Given the description of an element on the screen output the (x, y) to click on. 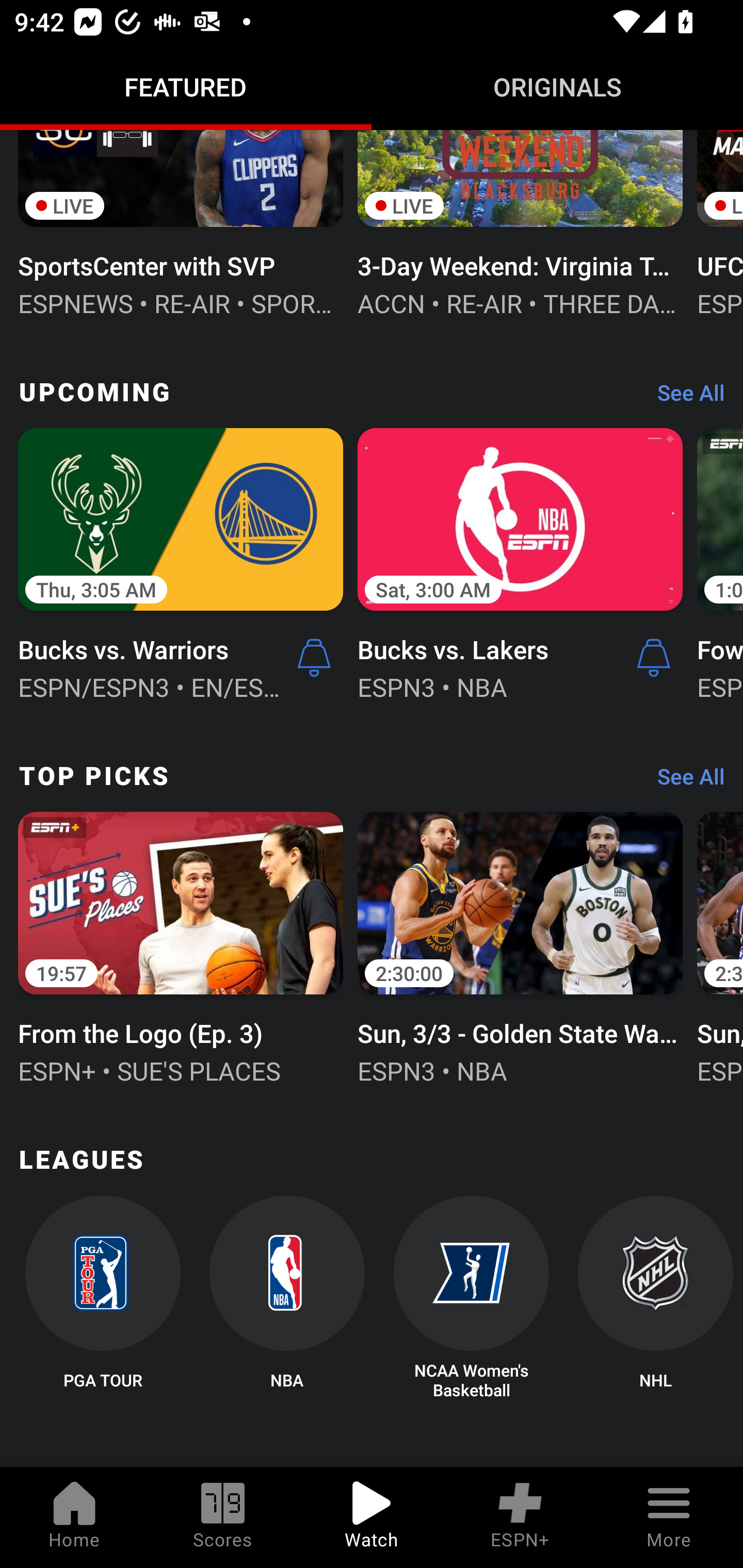
Originals ORIGINALS (557, 86)
See All (683, 397)
Alerts (314, 657)
Alerts (653, 657)
See All (683, 781)
19:57 From the Logo (Ep. 3) ESPN+ • SUE'S PLACES (180, 946)
PGA TOUR (102, 1297)
NBA (286, 1297)
NCAA Women's Basketball (471, 1297)
NHL (655, 1297)
Home (74, 1517)
Scores (222, 1517)
ESPN+ (519, 1517)
More (668, 1517)
